Given the description of an element on the screen output the (x, y) to click on. 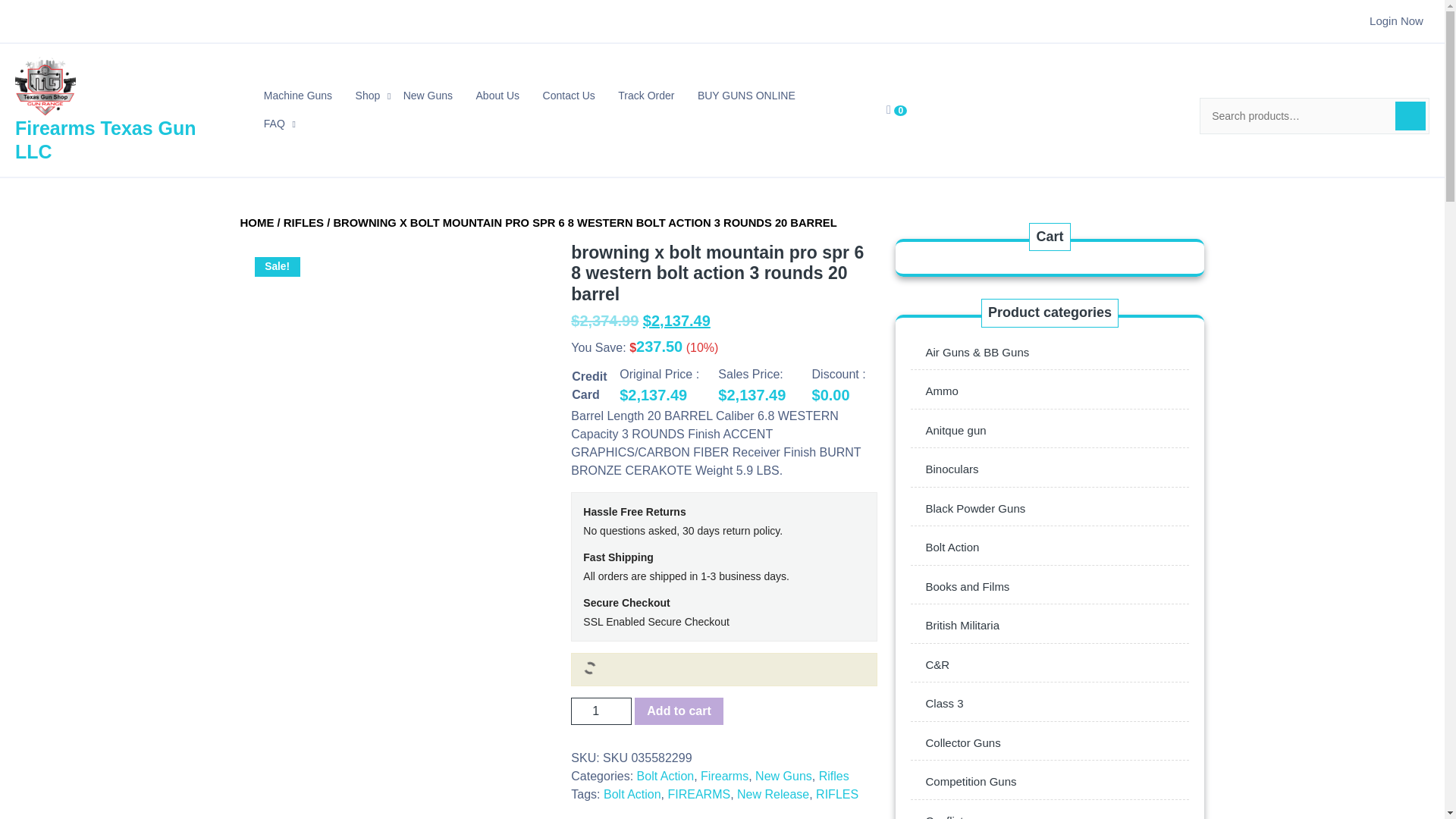
FAQ (274, 123)
New Guns (783, 775)
Firearms Texas Gun LLC (105, 139)
New Release (772, 793)
0 (896, 109)
Login Now (1396, 20)
Shop (368, 95)
Contact Us (568, 95)
Bolt Action (632, 793)
Search (1409, 115)
Bolt Action (665, 775)
New Guns (428, 95)
Add to cart (678, 710)
BUY GUNS ONLINE (746, 95)
Rifles (833, 775)
